Given the description of an element on the screen output the (x, y) to click on. 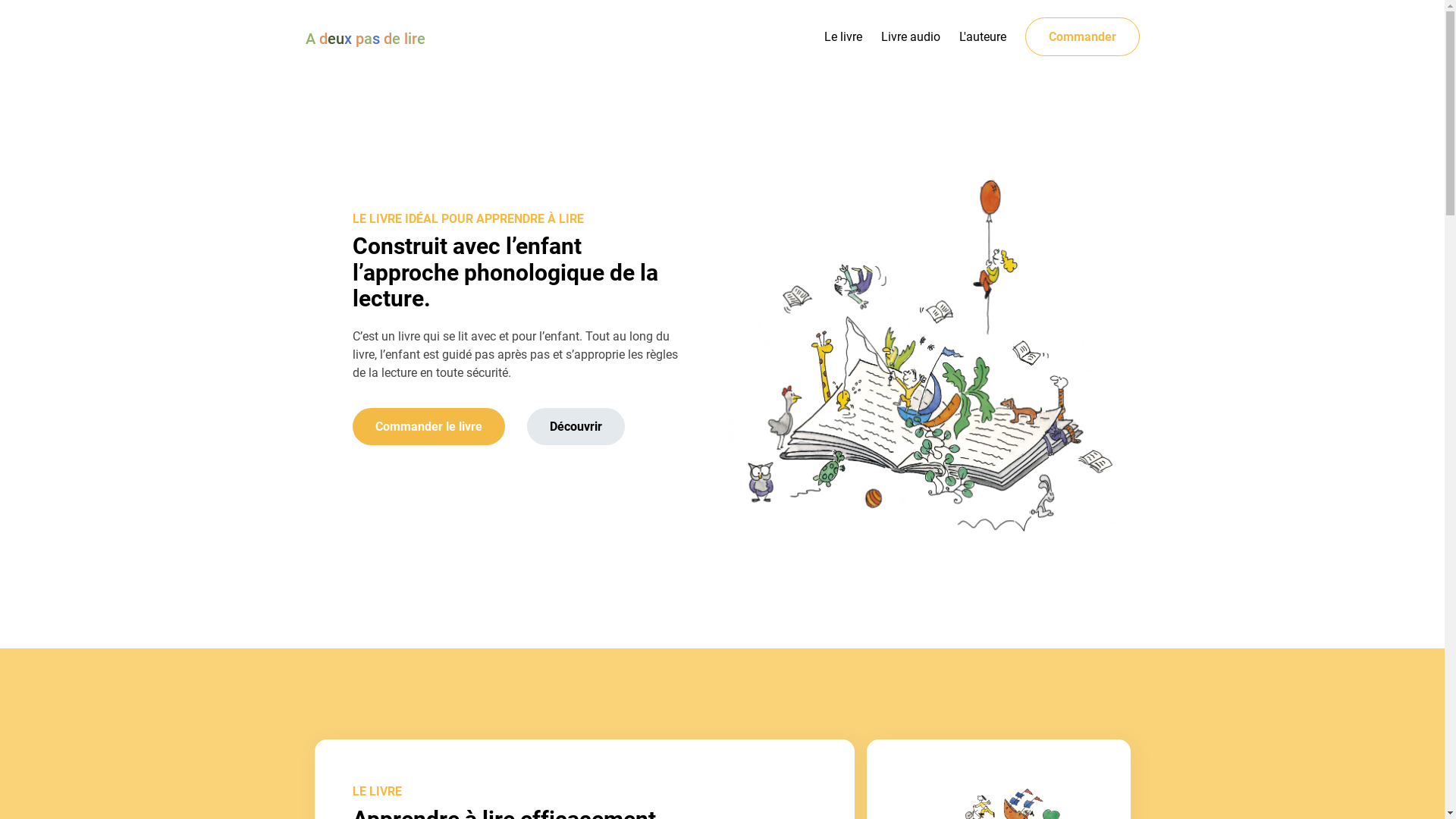
L'auteure Element type: text (981, 36)
Livre audio Element type: text (910, 36)
Commander le livre Element type: text (427, 426)
Le livre Element type: text (842, 36)
A deux pas de lire Element type: text (364, 38)
Commander Element type: text (1082, 36)
